Given the description of an element on the screen output the (x, y) to click on. 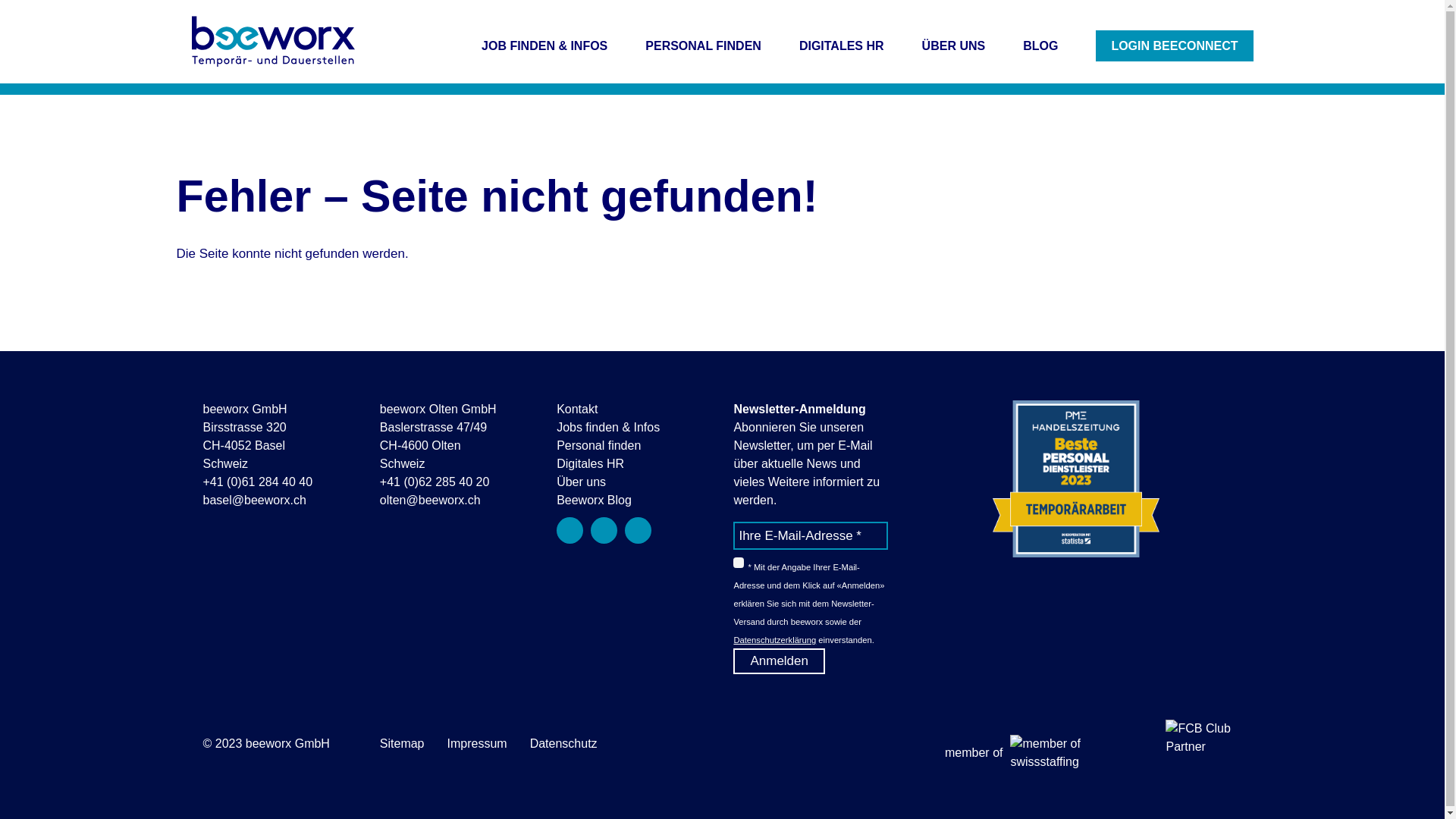
Personal finden Element type: text (598, 445)
BLOG Element type: text (1039, 45)
PERSONAL FINDEN Element type: text (703, 45)
Jobs finden & Infos Element type: text (607, 426)
Beeworx Blog Element type: text (593, 499)
JOB FINDEN & INFOS Element type: text (544, 45)
basel@beeworx.ch Element type: text (254, 499)
Anmelden Element type: text (779, 661)
LOGIN BEECONNECT Element type: text (1173, 45)
olten@beeworx.ch Element type: text (429, 499)
Digitales HR Element type: text (590, 463)
Kontakt Element type: text (576, 408)
DIGITALES HR Element type: text (841, 45)
Sitemap Element type: text (401, 743)
Impressum Element type: text (477, 743)
Datenschutz Element type: text (563, 743)
